Given the description of an element on the screen output the (x, y) to click on. 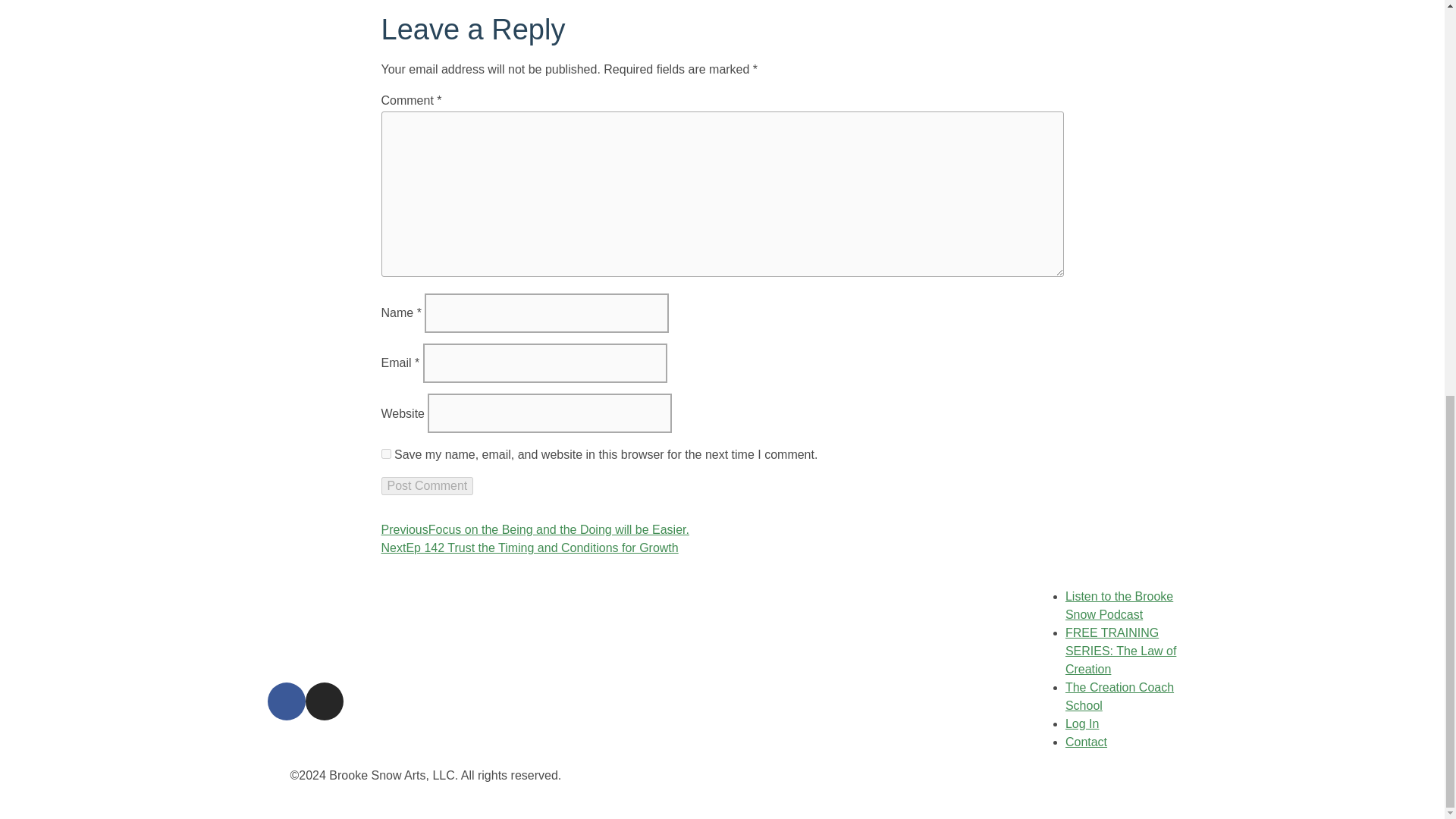
The Creation Coach School (1119, 695)
Post Comment (426, 485)
NextEp 142 Trust the Timing and Conditions for Growth (529, 547)
PreviousFocus on the Being and the Doing will be Easier. (534, 529)
Listen to the Brooke Snow Podcast (1119, 604)
Log In (1082, 723)
Contact (1085, 741)
FREE TRAINING SERIES: The Law of Creation (1120, 650)
yes (385, 453)
Post Comment (426, 485)
